Given the description of an element on the screen output the (x, y) to click on. 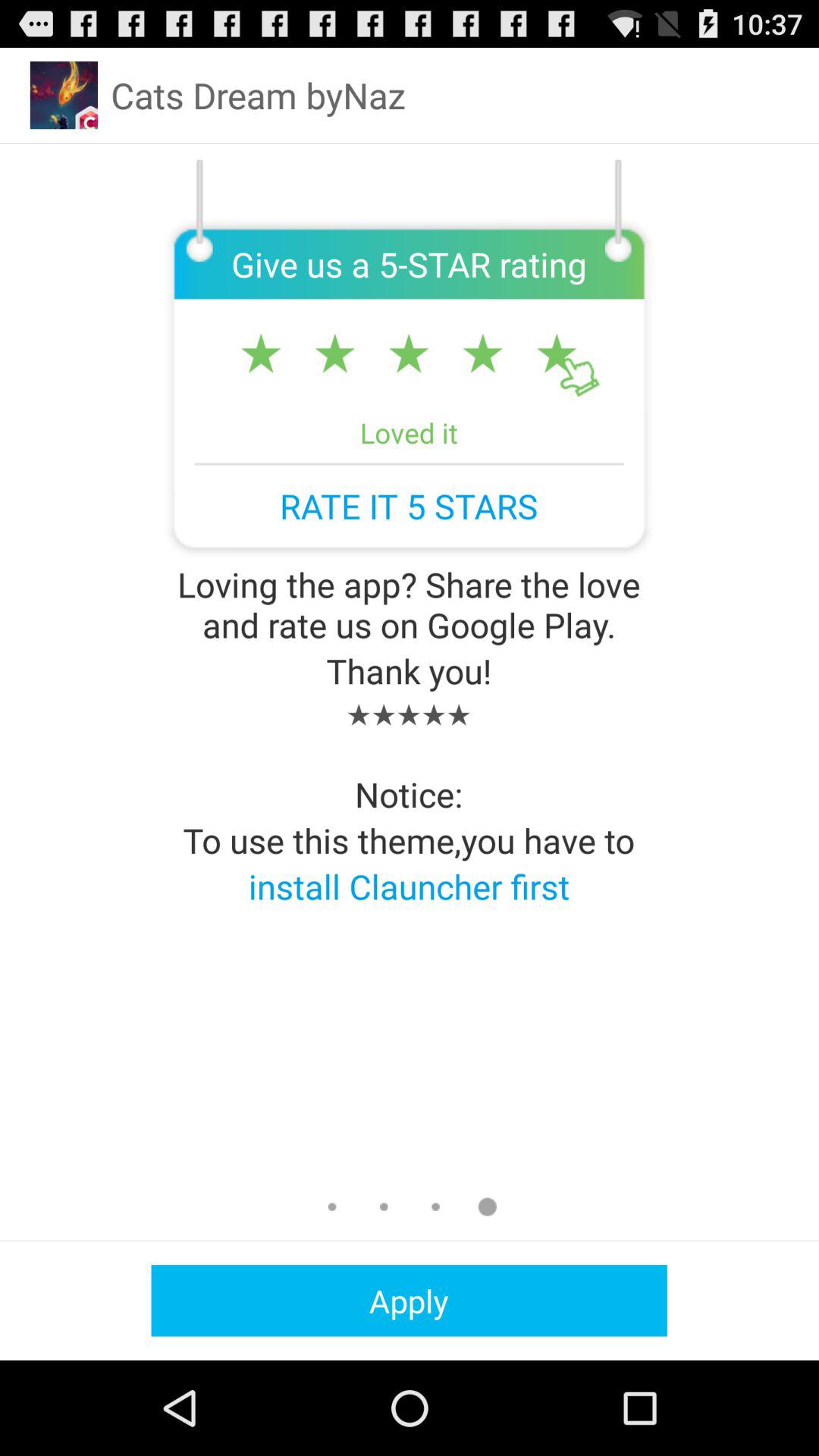
launch apply button (409, 1300)
